Given the description of an element on the screen output the (x, y) to click on. 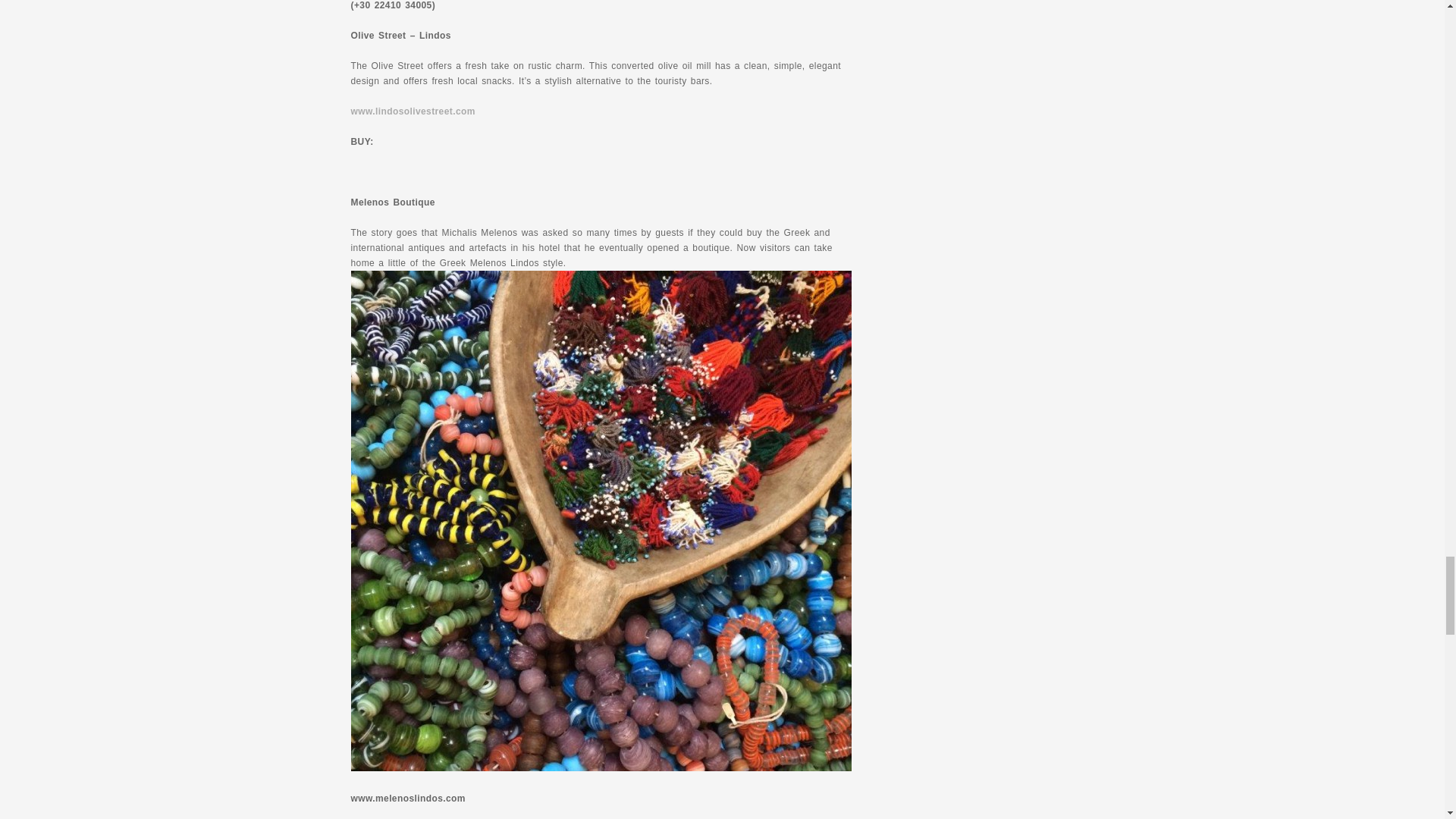
www.lindosolivestreet.com (412, 111)
